Given the description of an element on the screen output the (x, y) to click on. 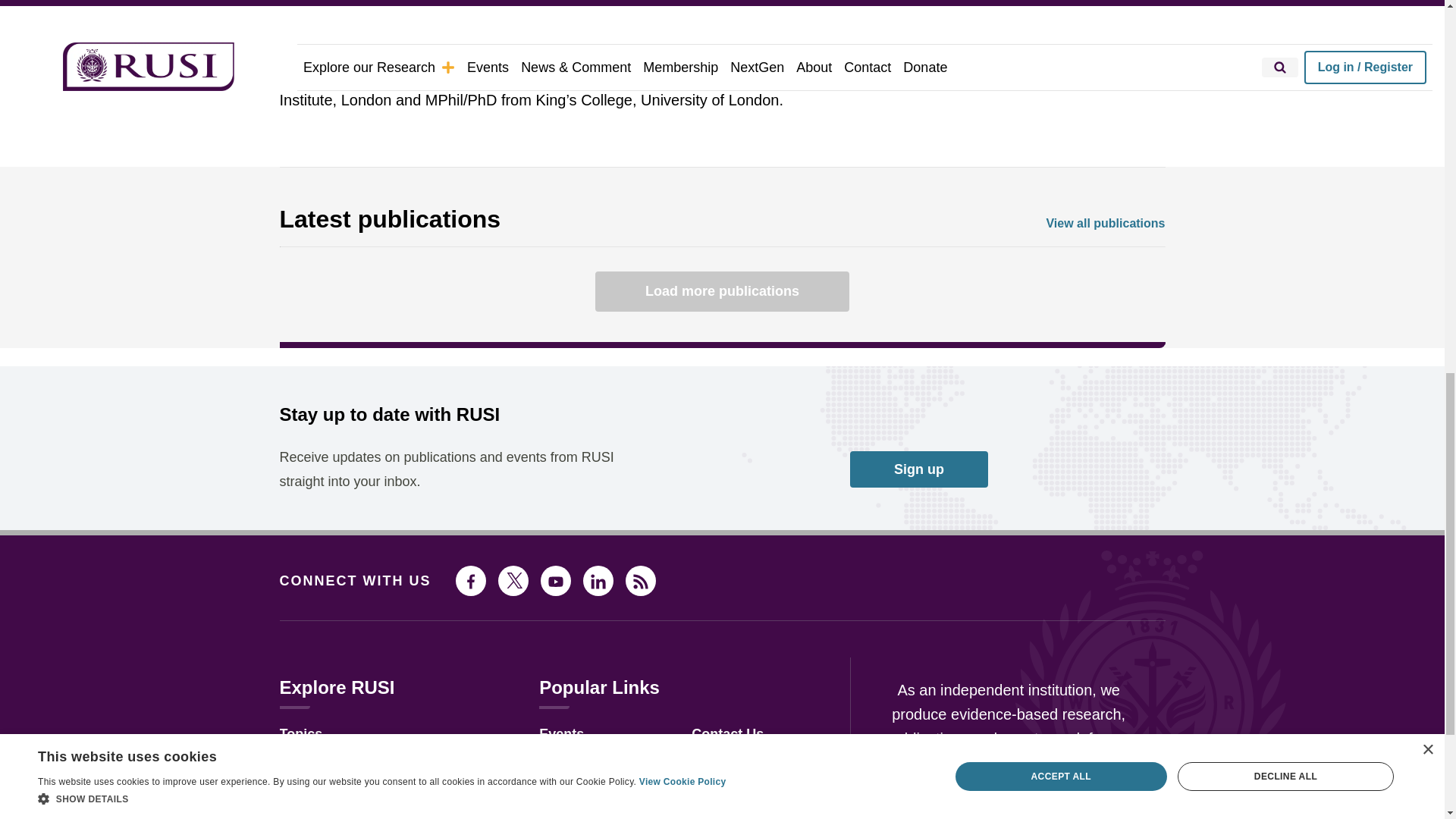
Regions (306, 759)
Contact Us (726, 734)
Publications (319, 807)
View all publications (1104, 224)
Topics (300, 734)
Membership (579, 783)
Load more publications (721, 291)
Sign up (919, 469)
About (558, 807)
Events (560, 734)
